Given the description of an element on the screen output the (x, y) to click on. 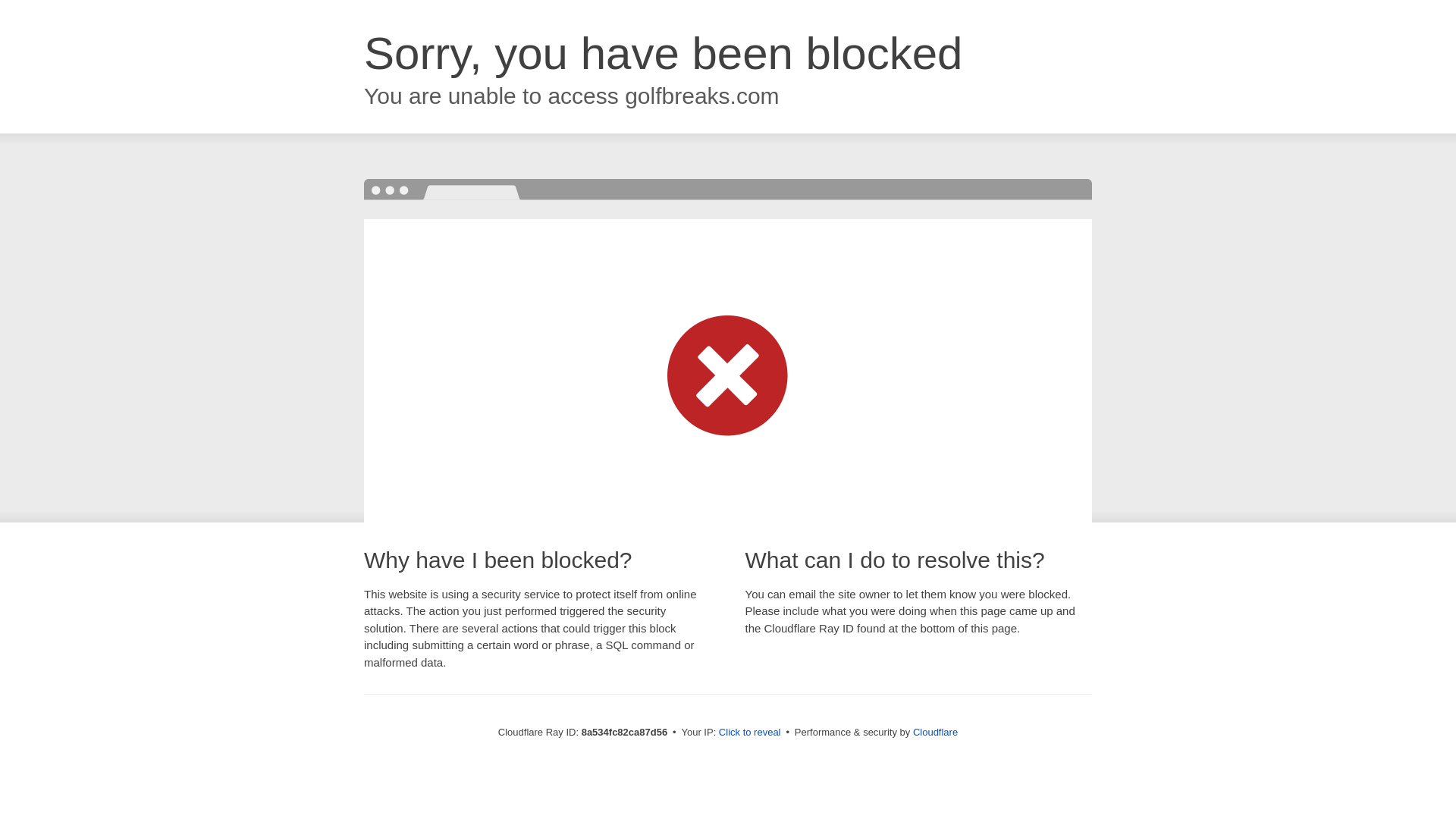
Click to reveal (749, 732)
Cloudflare (935, 731)
